Given the description of an element on the screen output the (x, y) to click on. 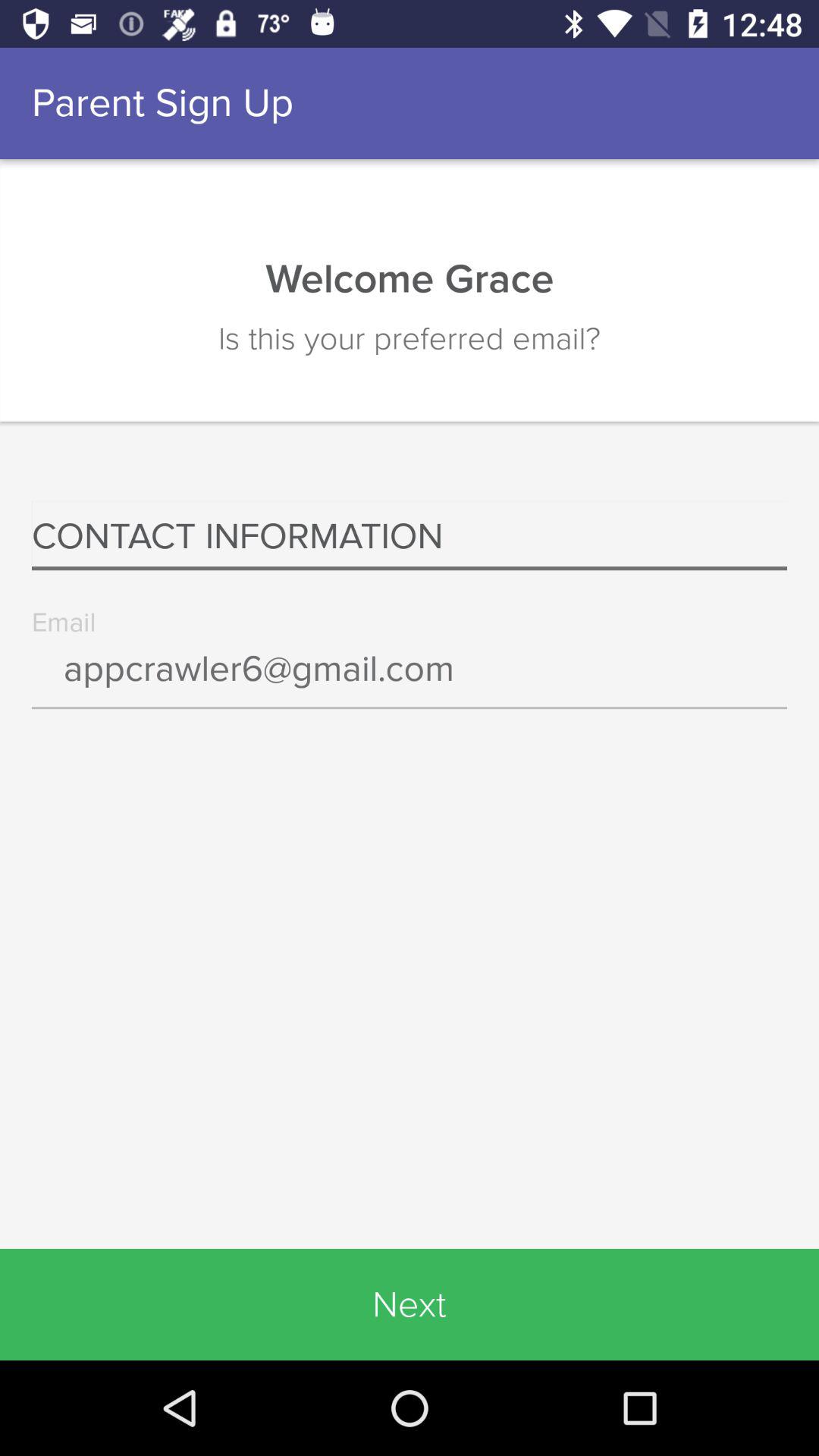
open appcrawler6@gmail.com (409, 679)
